Given the description of an element on the screen output the (x, y) to click on. 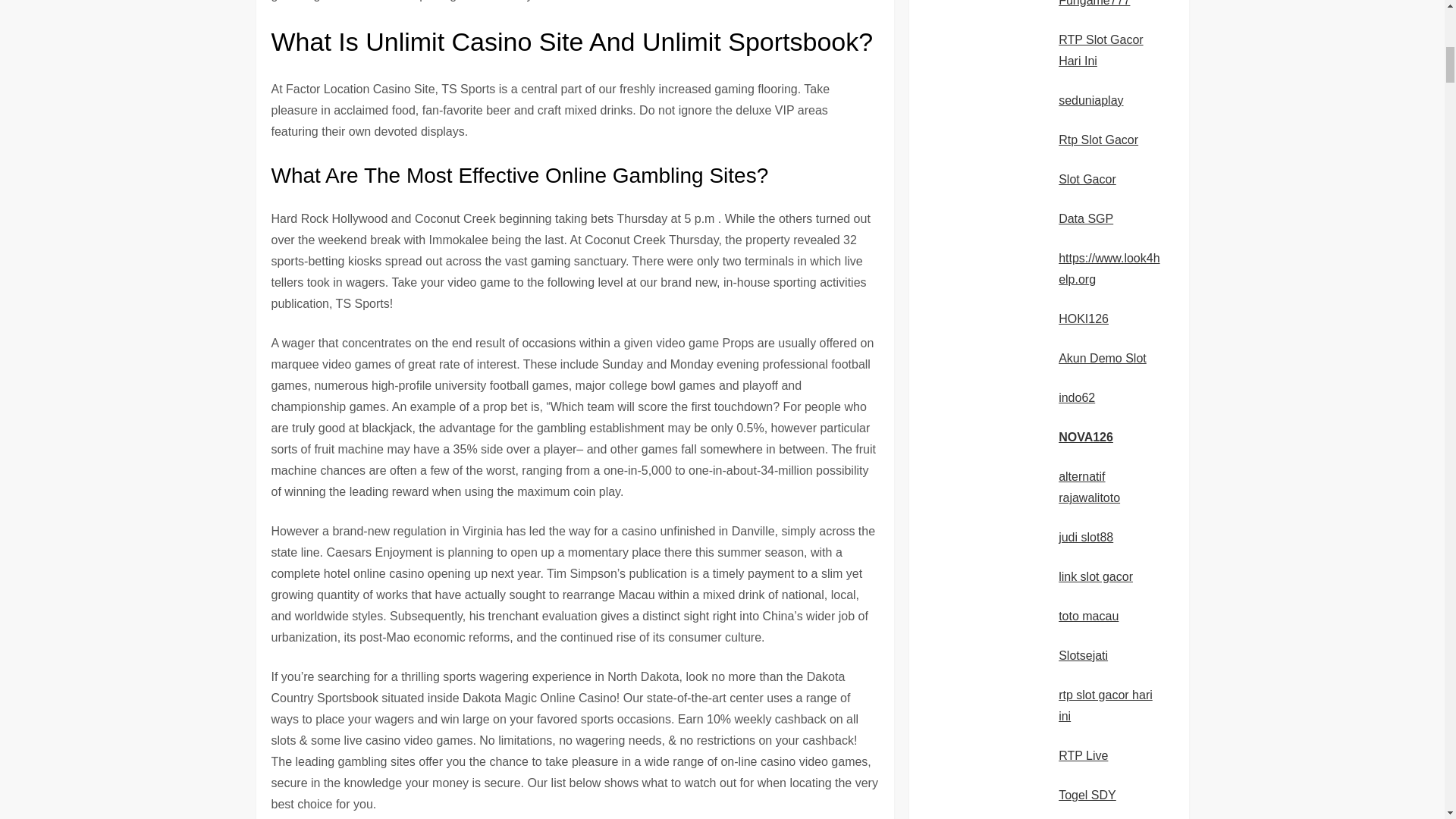
Slot Gacor (1087, 178)
Akun Demo Slot (1102, 358)
NOVA126 (1085, 436)
seduniaplay (1090, 100)
Rtp Slot Gacor (1098, 139)
indo62 (1076, 397)
alternatif rajawalitoto (1088, 487)
judi slot88 (1085, 536)
toto macau (1088, 615)
Fungame777 (1093, 3)
HOKI126 (1083, 318)
Data SGP (1085, 218)
RTP Slot Gacor Hari Ini (1100, 50)
link slot gacor (1095, 576)
